Given the description of an element on the screen output the (x, y) to click on. 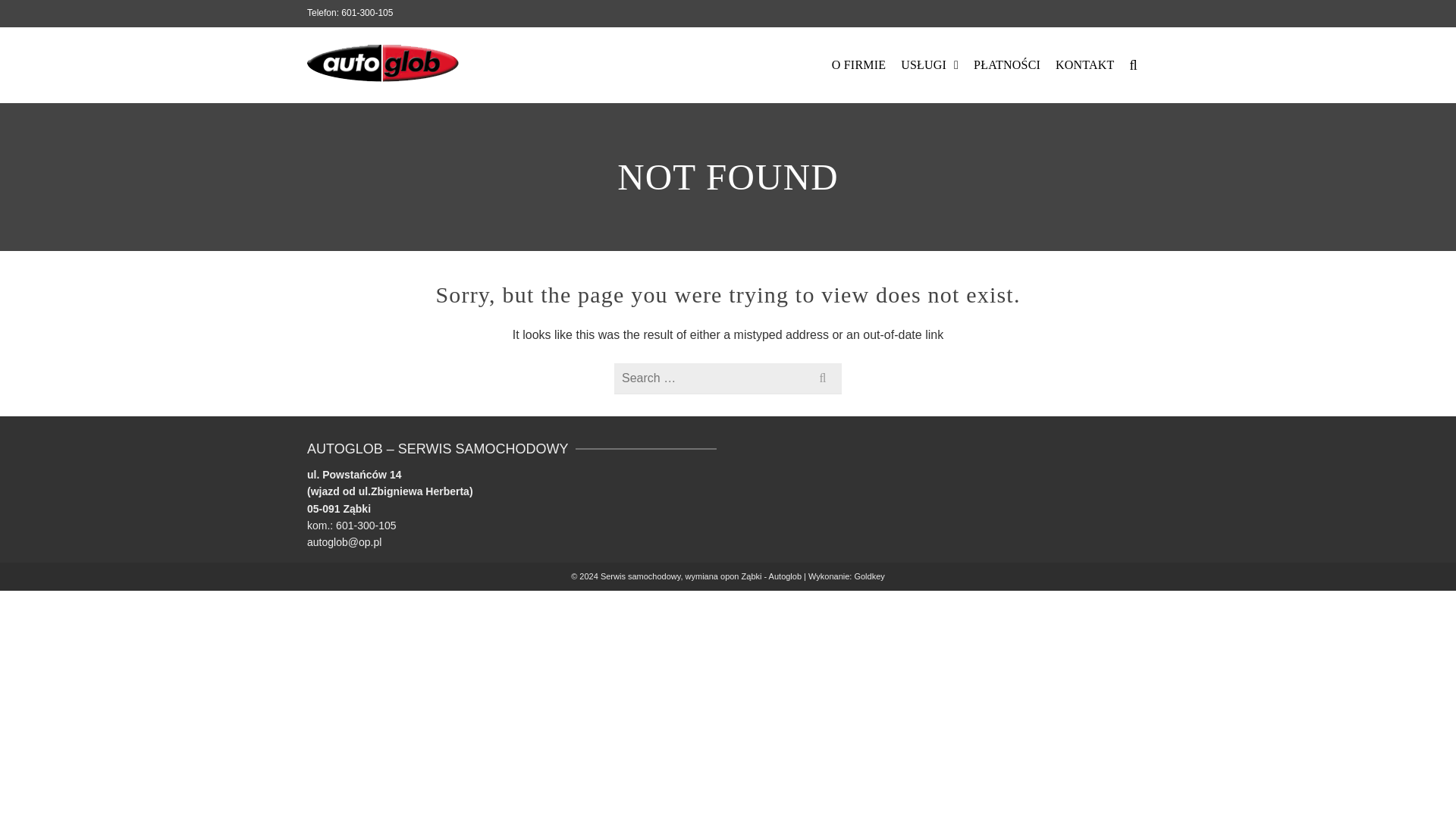
O FIRMIE (858, 64)
KONTAKT (1084, 64)
Telefon: 601-300-105 (350, 12)
